Given the description of an element on the screen output the (x, y) to click on. 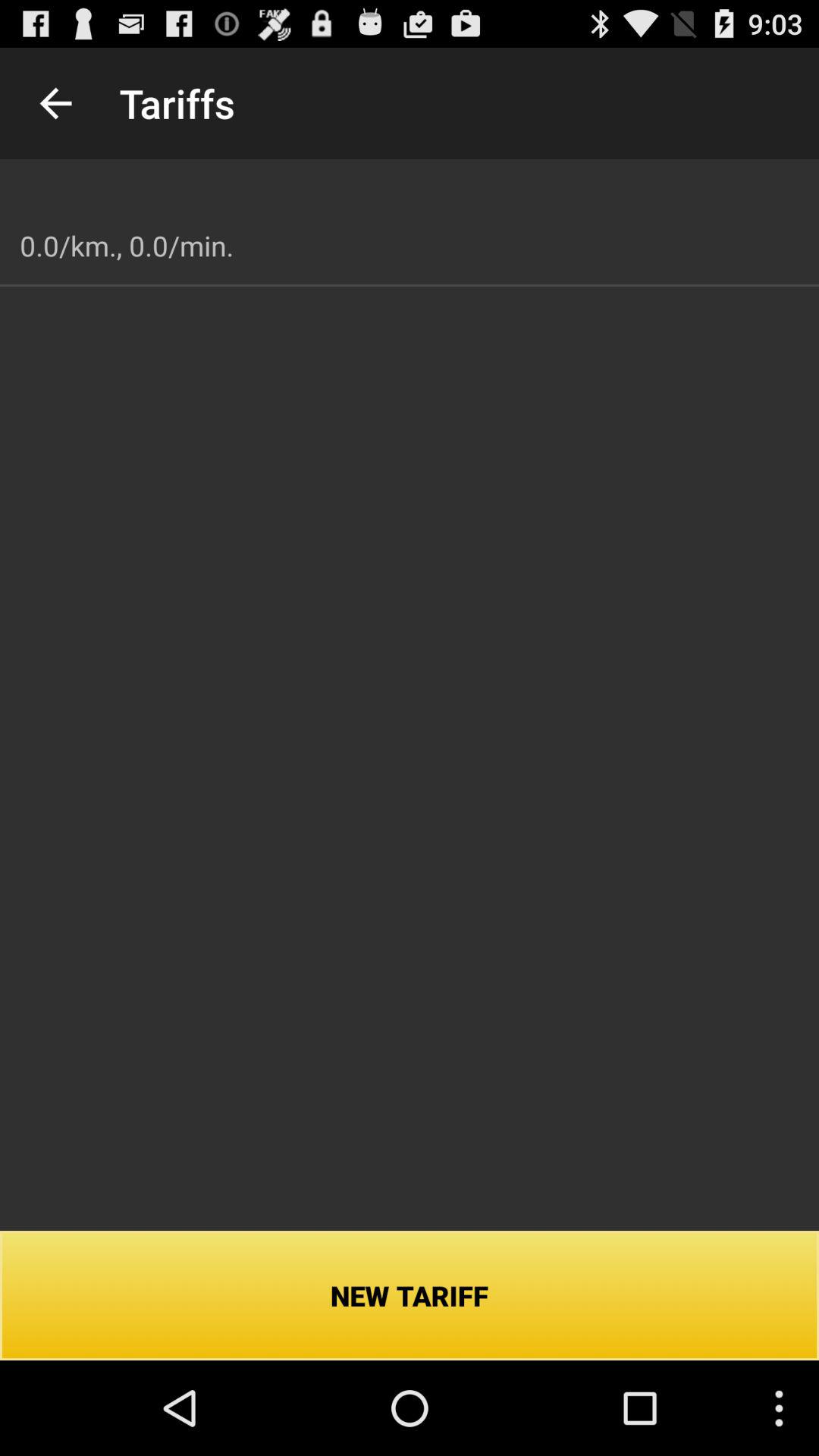
swipe until new tariff item (409, 1295)
